Given the description of an element on the screen output the (x, y) to click on. 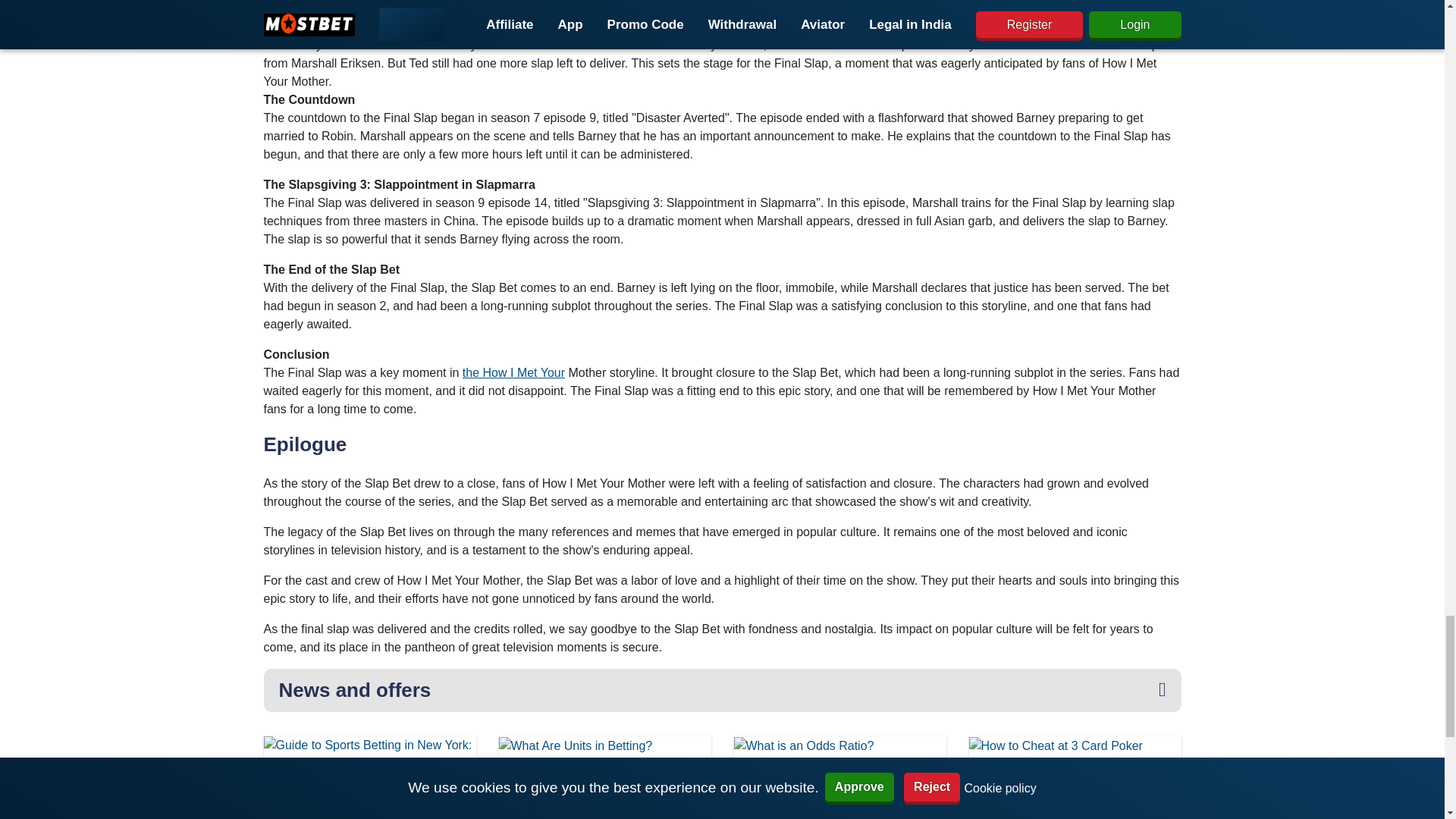
What Are Units in Betting? (603, 775)
Guide to Sports Betting in New York: Tips and Strategies (369, 799)
How to Cheat at 3 Card Poker (1074, 775)
the How I Met Your (513, 372)
What is an Odds Ratio? (839, 775)
